Given the description of an element on the screen output the (x, y) to click on. 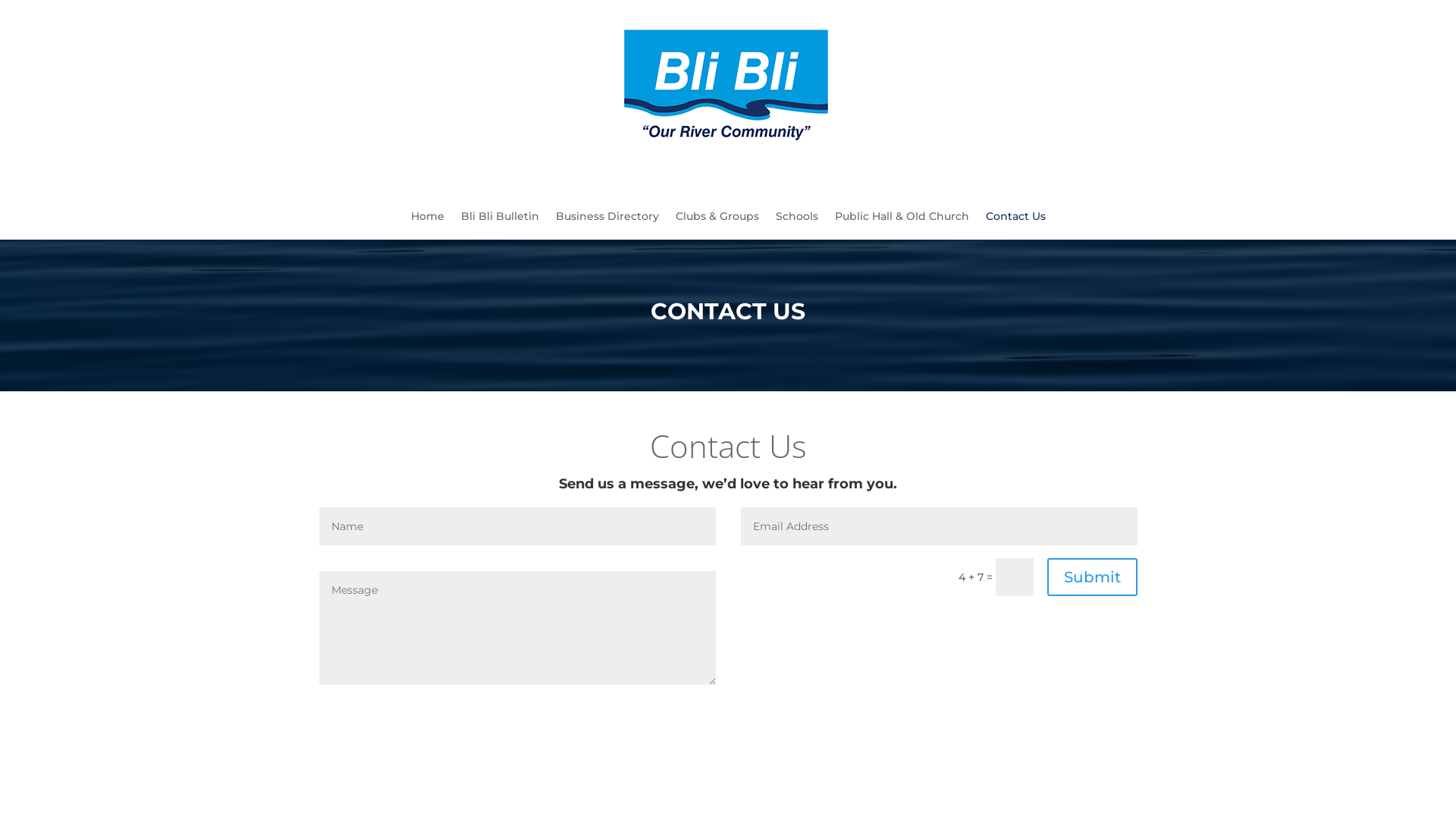
Public Hall & Old Church Element type: text (901, 227)
Bli Bli logo_header Element type: hover (727, 86)
Clubs & Groups Element type: text (716, 227)
Home Element type: text (427, 227)
Bli Bli Bulletin Element type: text (500, 227)
Business Directory Element type: text (606, 227)
Submit Element type: text (1092, 577)
Schools Element type: text (796, 227)
Contact Us Element type: text (1015, 227)
